Given the description of an element on the screen output the (x, y) to click on. 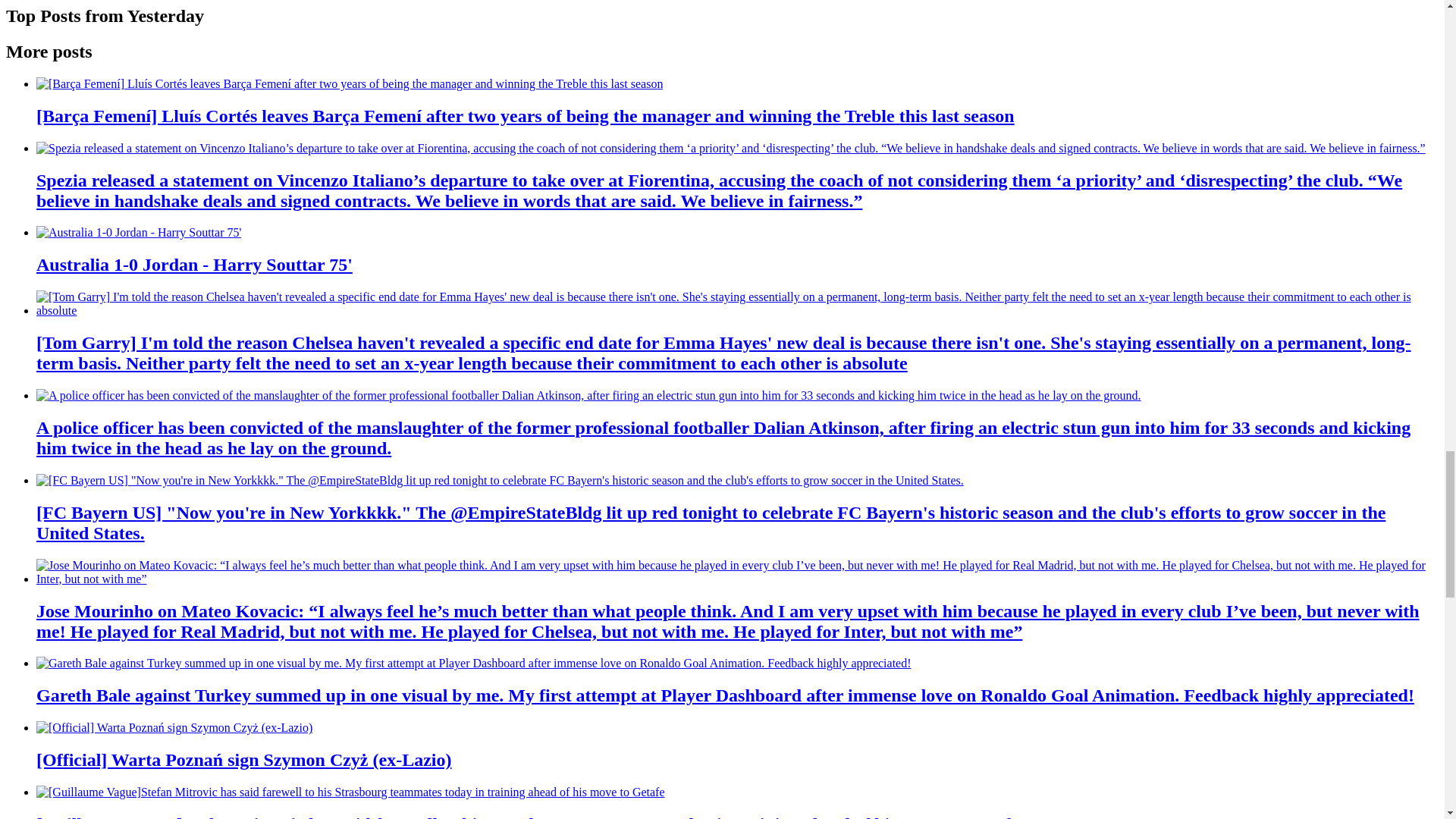
Australia 1-0 Jordan - Harry Souttar 75' (138, 232)
